Given the description of an element on the screen output the (x, y) to click on. 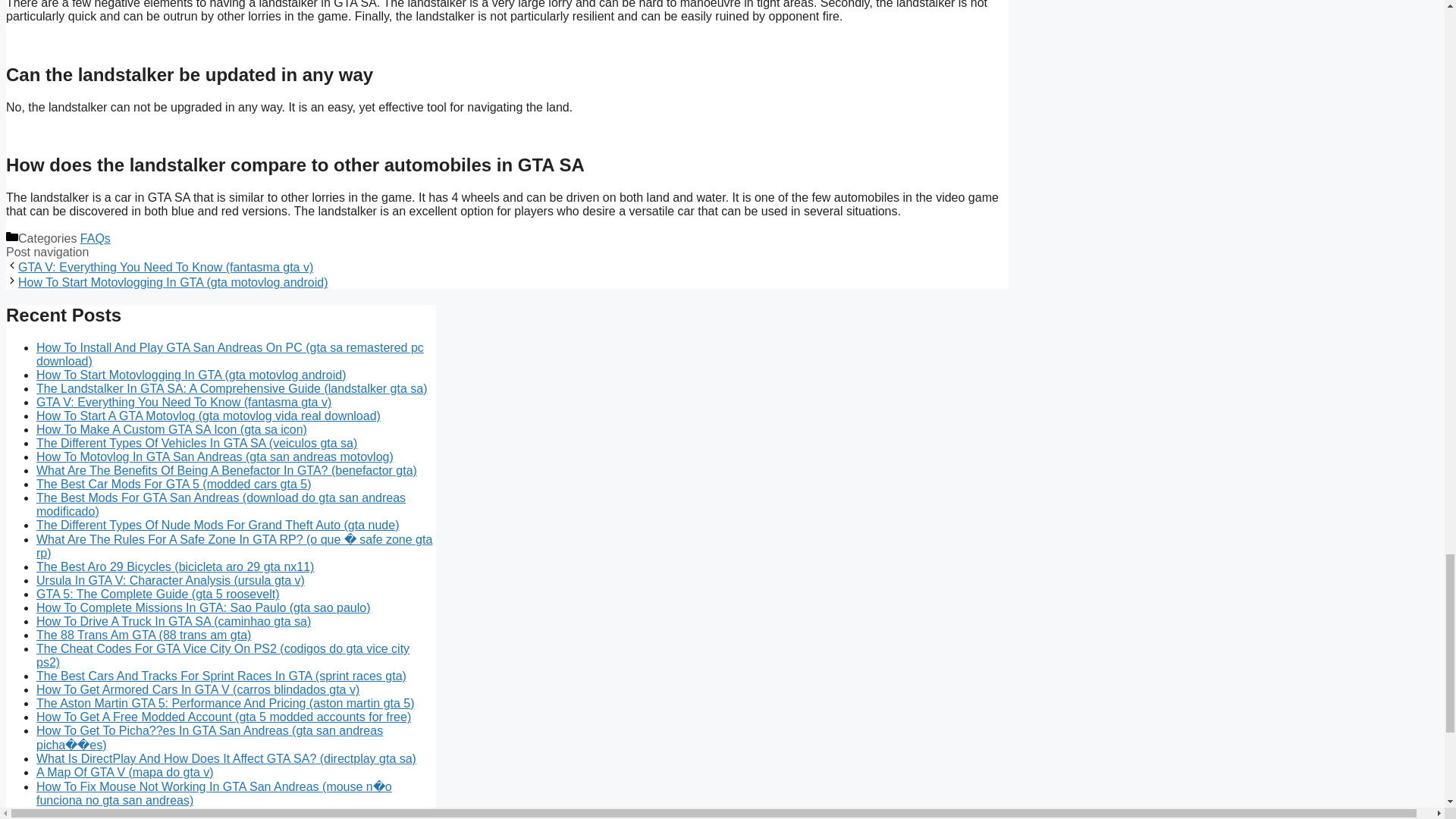
Next (173, 282)
FAQs (95, 237)
Previous (165, 267)
